Given the description of an element on the screen output the (x, y) to click on. 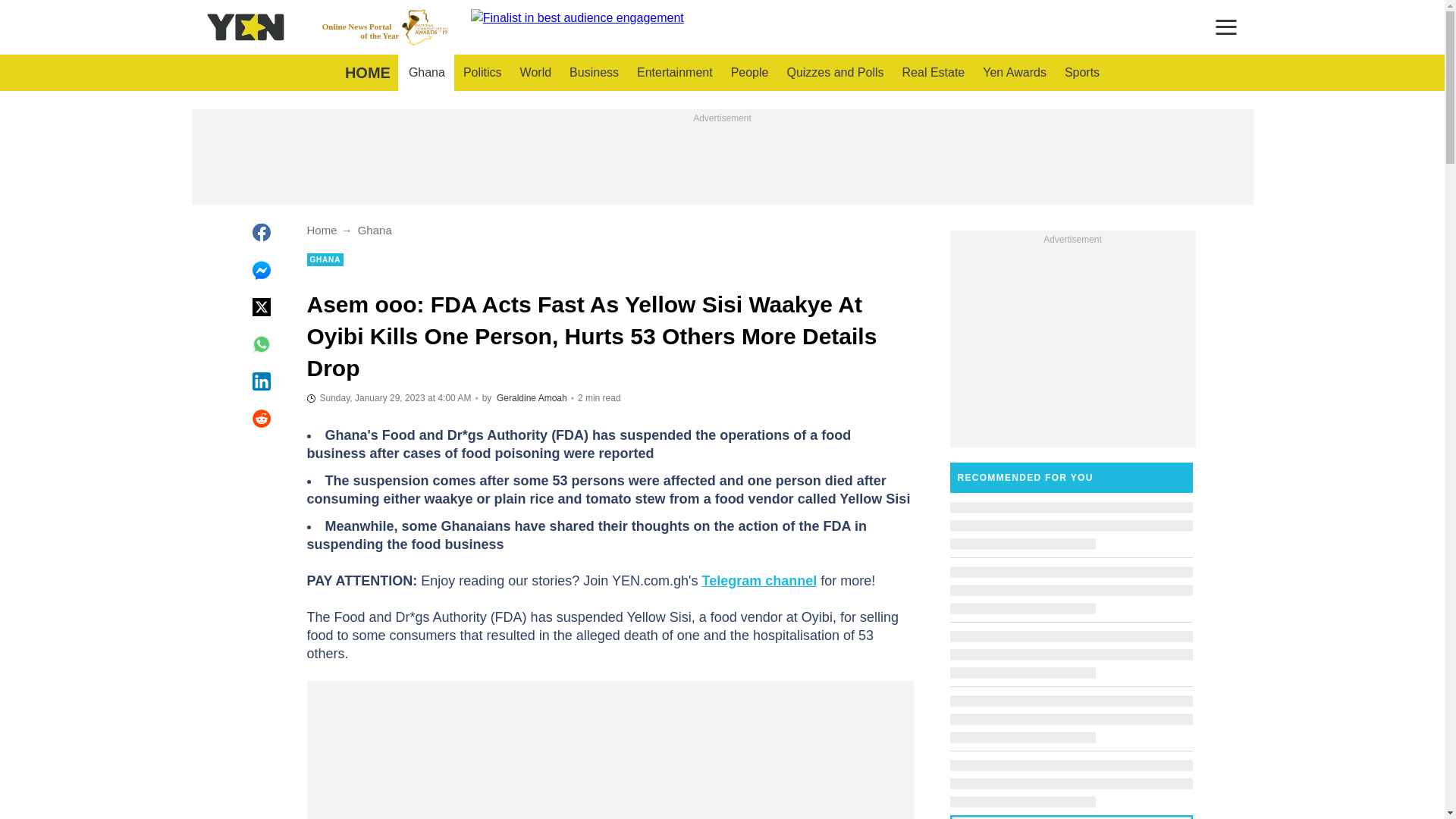
Entertainment (674, 72)
Quizzes and Polls (834, 72)
2023-01-29T04:00:48Z (387, 398)
Real Estate (933, 72)
People (749, 72)
HOME (367, 72)
Sports (1081, 72)
World (535, 72)
Yen Awards (1014, 72)
Author page (531, 398)
